Given the description of an element on the screen output the (x, y) to click on. 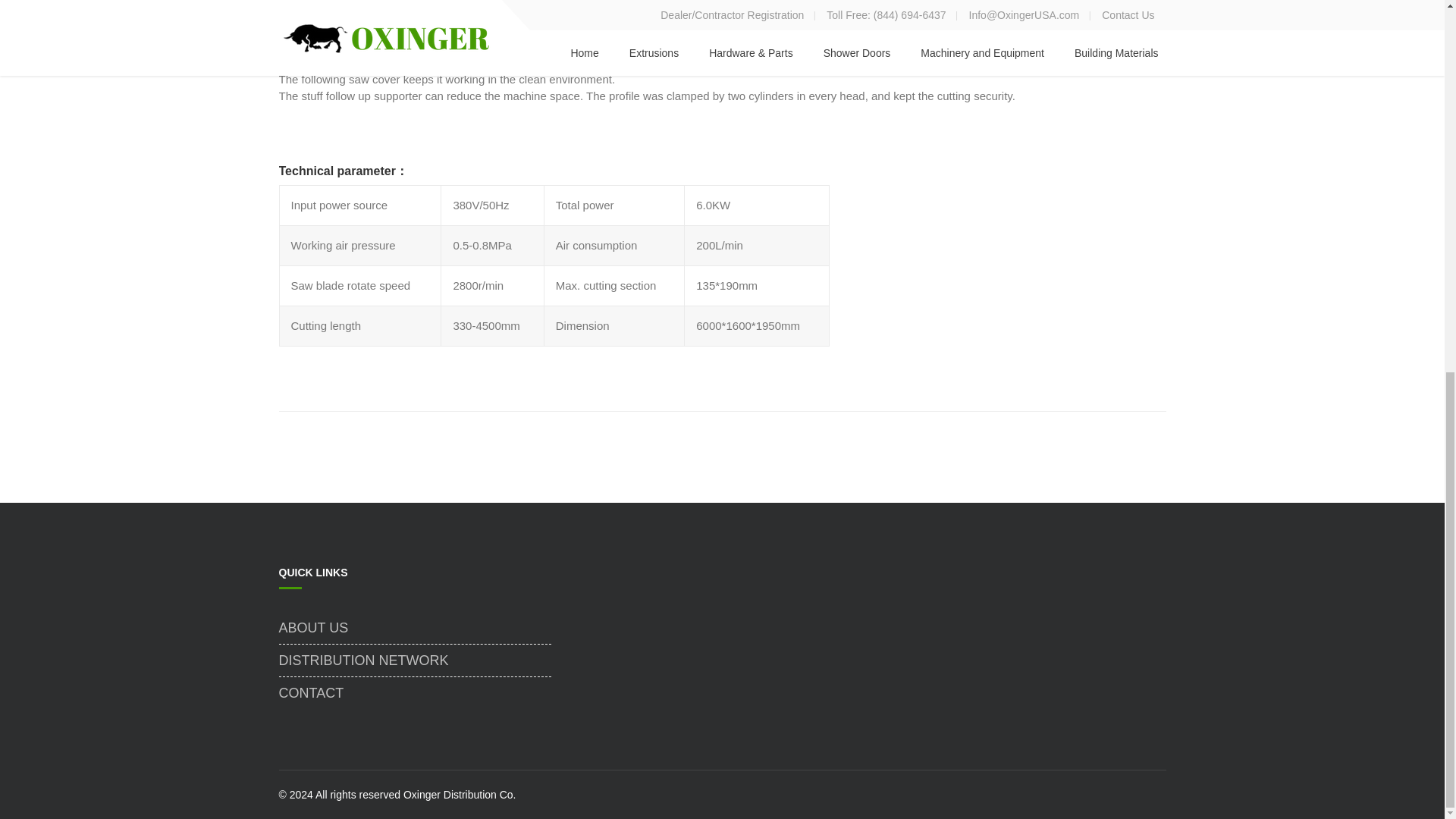
CONTACT (415, 692)
ABOUT US (415, 627)
DISTRIBUTION NETWORK (415, 660)
